Given the description of an element on the screen output the (x, y) to click on. 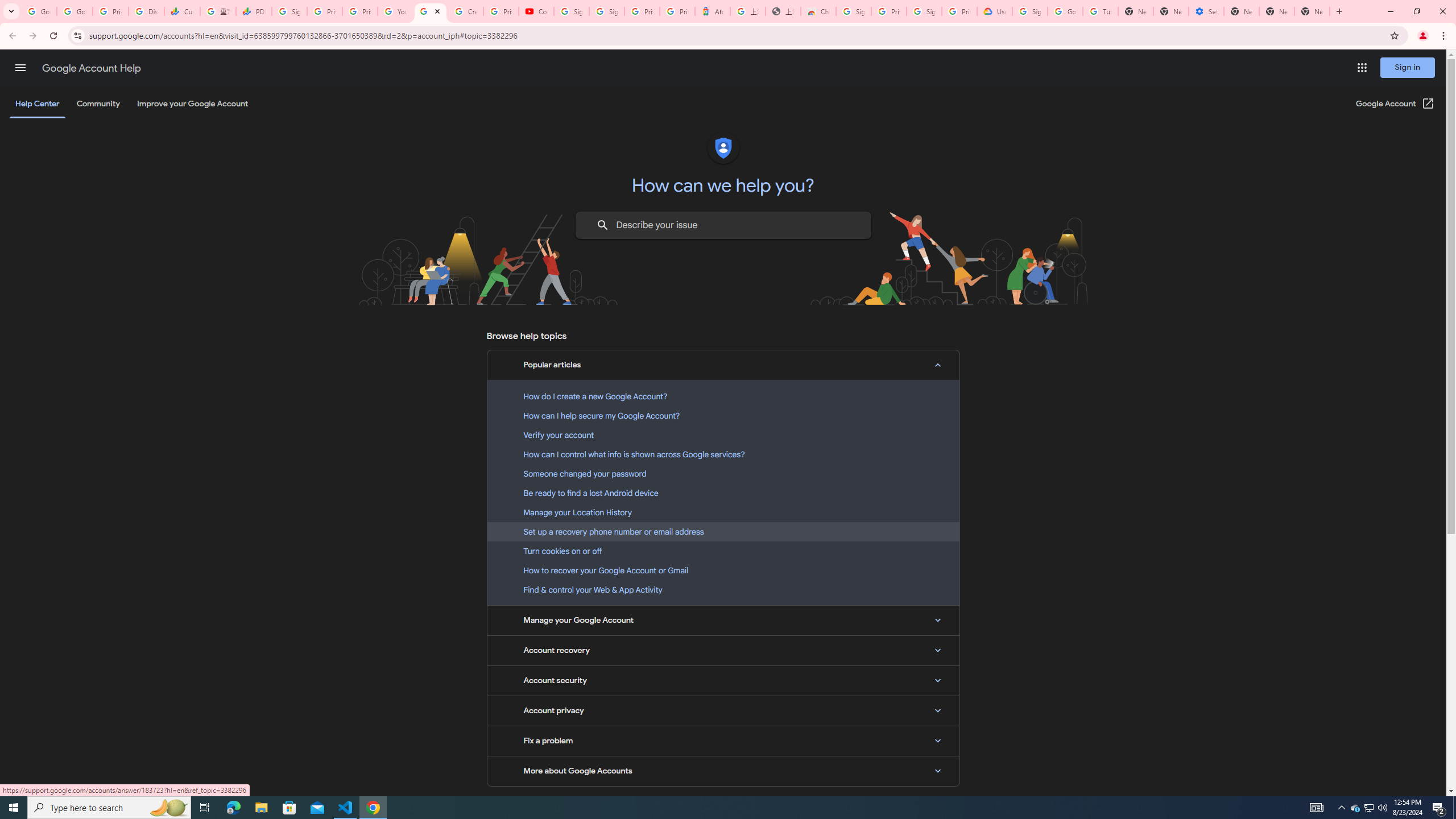
PDD Holdings Inc - ADR (PDD) Price & News - Google Finance (253, 11)
Find & control your Web & App Activity (722, 589)
Sign in - Google Accounts (853, 11)
Privacy Checkup (359, 11)
How can I help secure my Google Account? (722, 415)
Google Account Help (1064, 11)
Be ready to find a lost Android device (722, 492)
Improve your Google Account (192, 103)
Account recovery (722, 650)
